Given the description of an element on the screen output the (x, y) to click on. 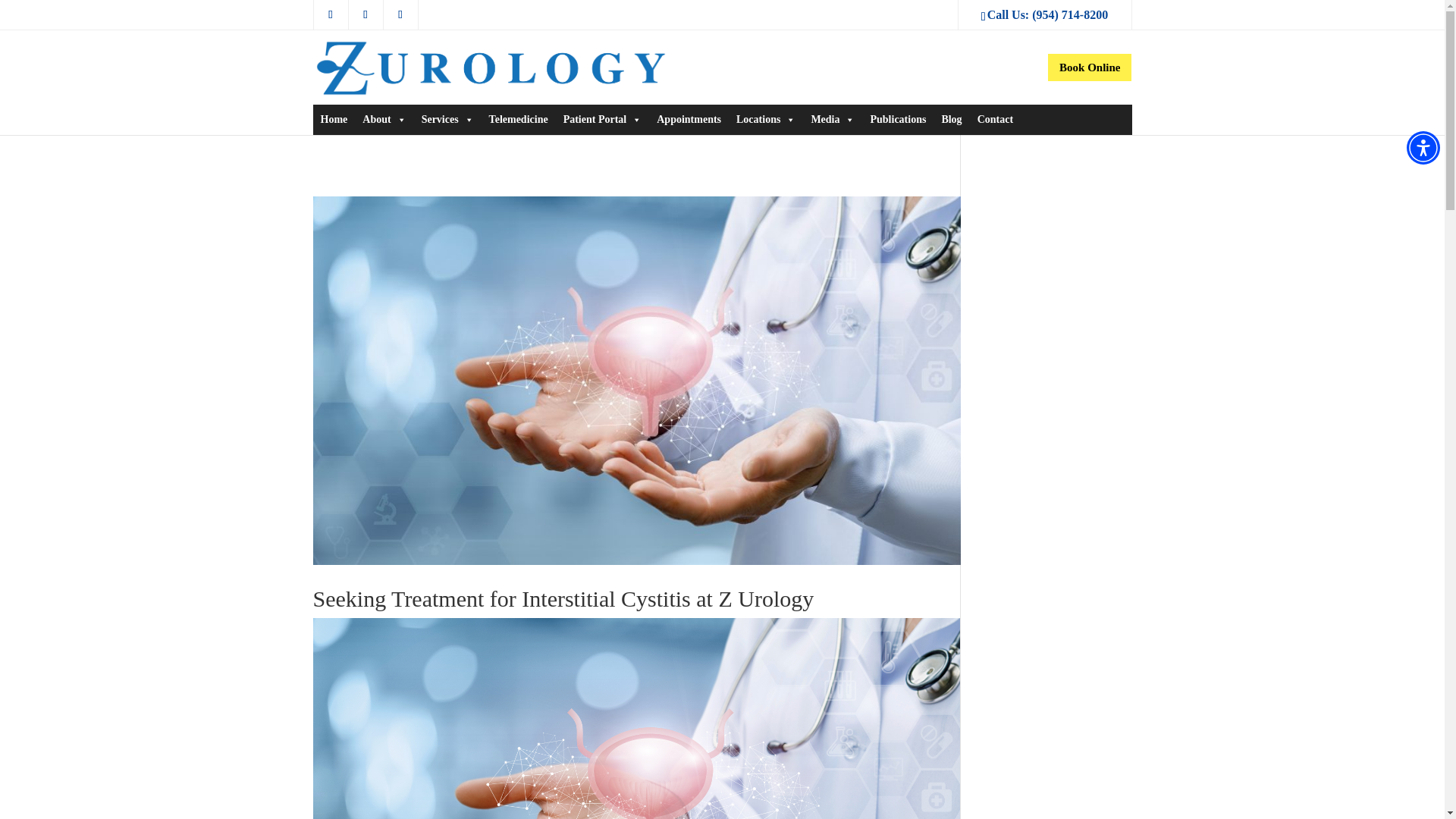
About (384, 119)
Accessibility Menu (1422, 147)
Home (334, 119)
Services (447, 119)
Book Online (1089, 66)
